Given the description of an element on the screen output the (x, y) to click on. 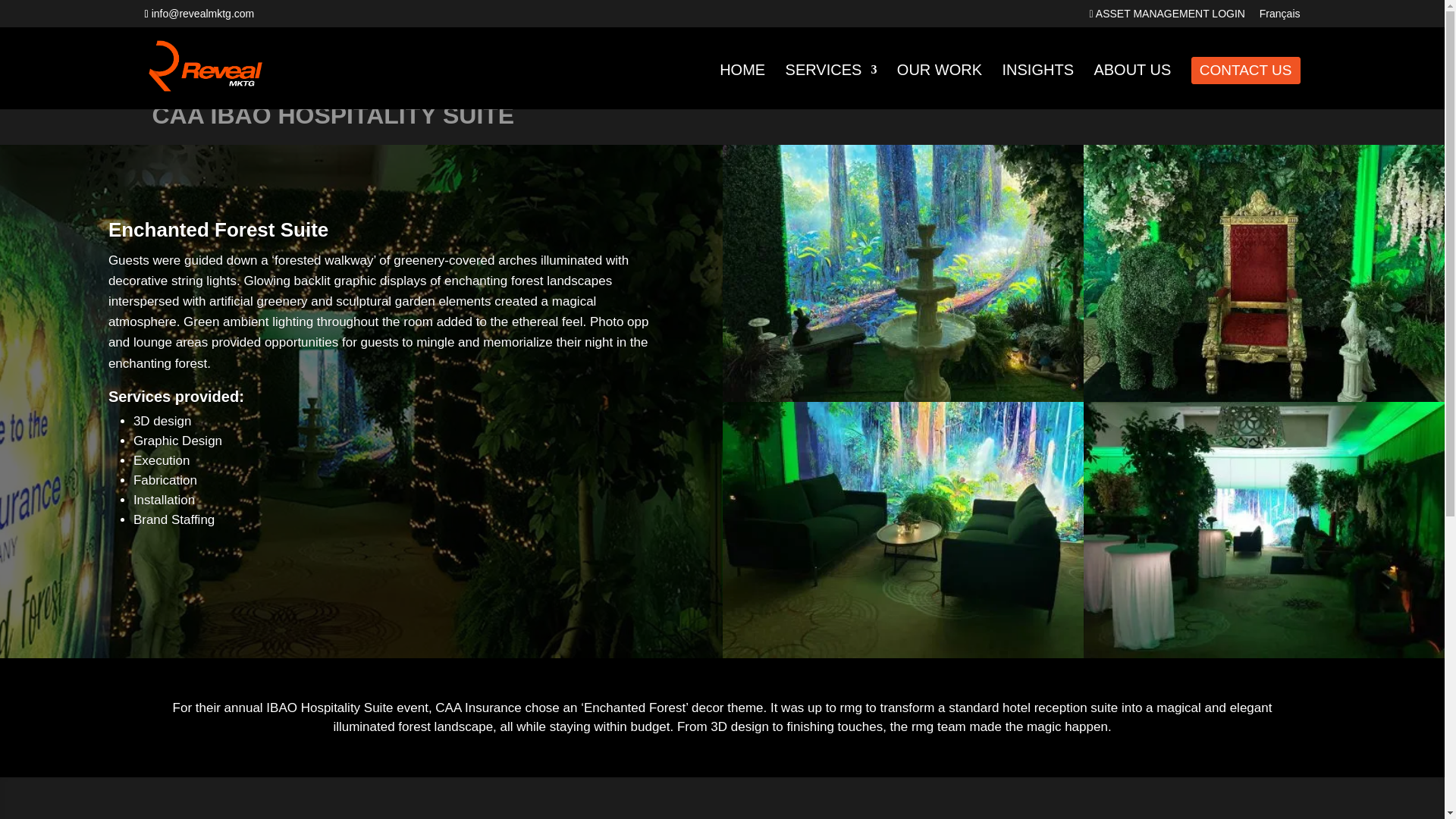
ABOUT US (1131, 86)
CONTACT US (1246, 70)
HOME (742, 86)
OUR WORK (938, 86)
INSIGHTS (1038, 86)
SERVICES (831, 86)
